Given the description of an element on the screen output the (x, y) to click on. 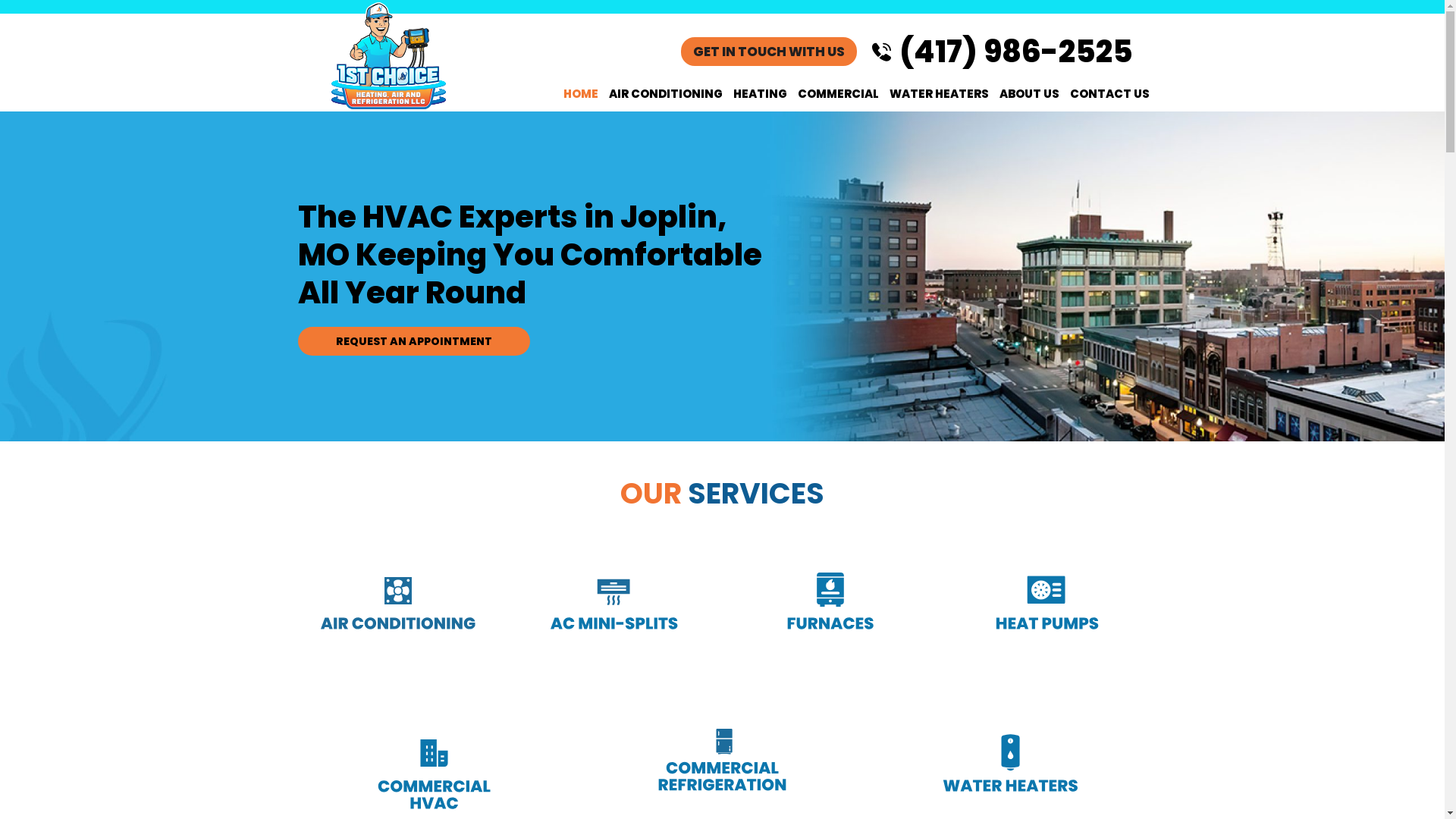
(417) 986-2525 Element type: text (1009, 51)
HOME Element type: text (580, 93)
REQUEST AN APPOINTMENT Element type: text (413, 340)
COMMERCIAL Element type: text (837, 93)
ABOUT US Element type: text (1028, 93)
CONTACT US Element type: text (1109, 93)
GET IN TOUCH WITH US Element type: text (768, 51)
HEATING Element type: text (760, 93)
WATER HEATERS Element type: text (939, 93)
AIR CONDITIONING Element type: text (665, 93)
